Given the description of an element on the screen output the (x, y) to click on. 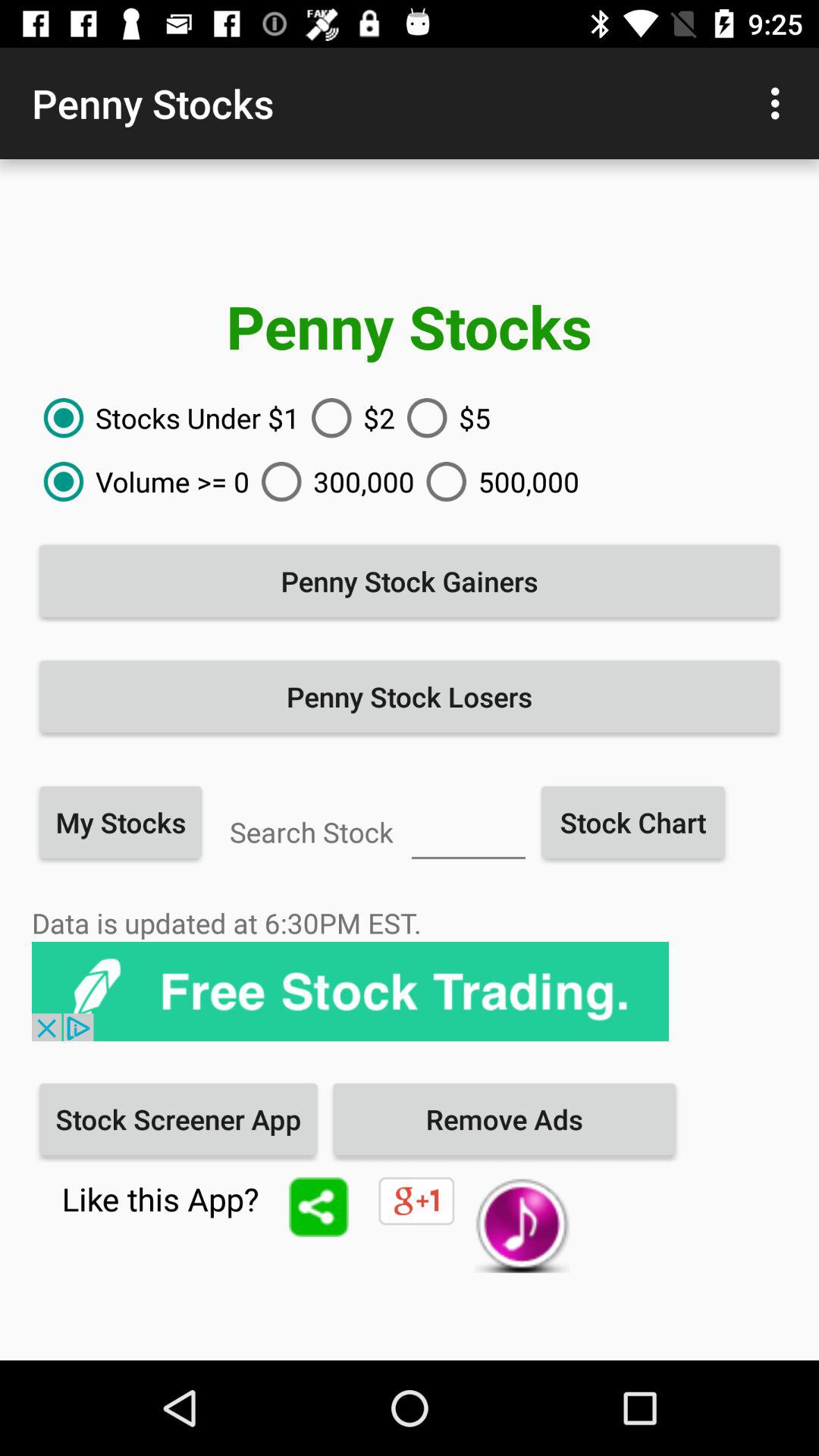
free stock trading advertisement (349, 991)
